Given the description of an element on the screen output the (x, y) to click on. 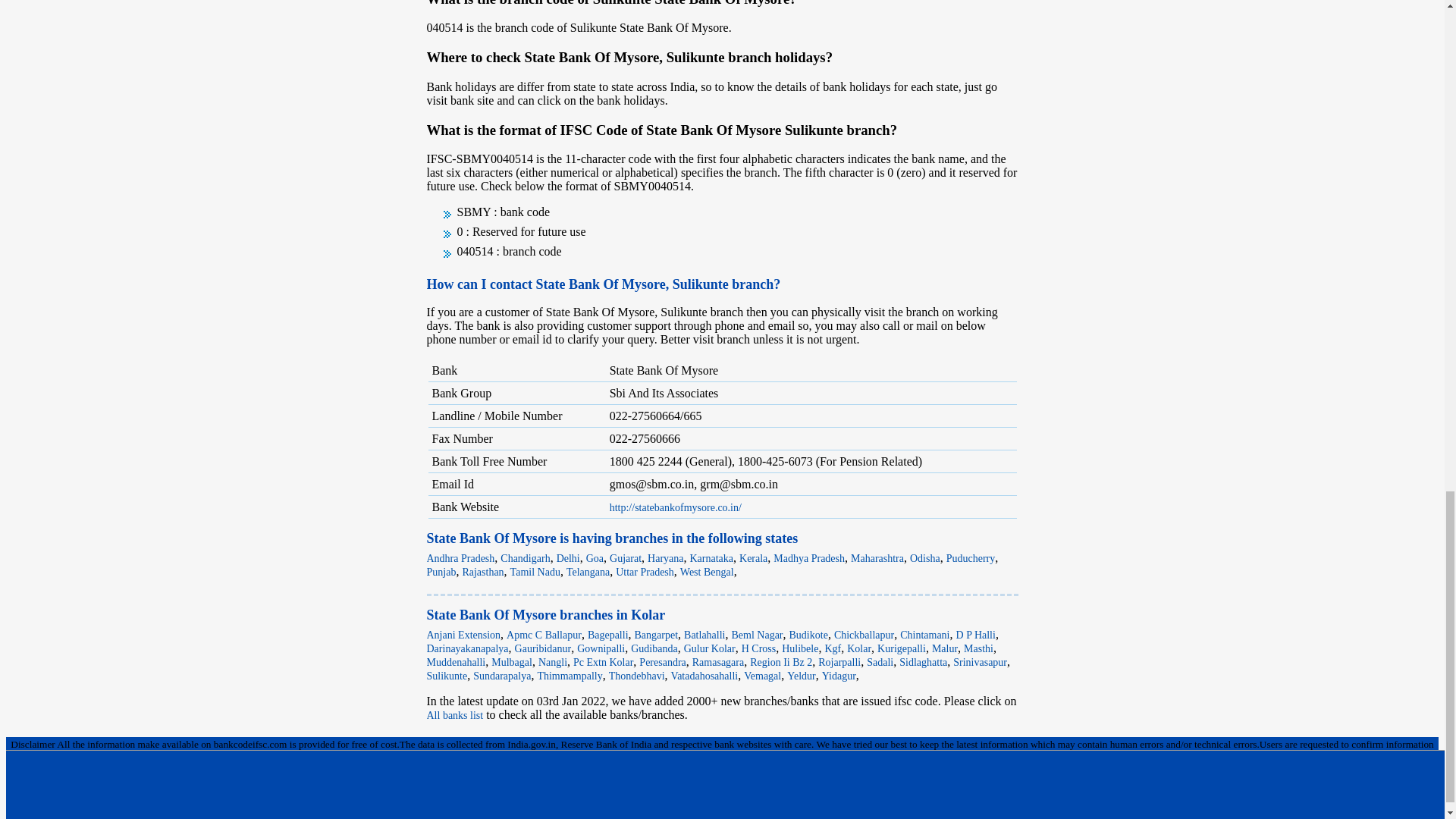
Kerala (753, 558)
Bangarpet (656, 634)
Puducherry (970, 558)
Haryana (664, 558)
Gujarat (626, 558)
Budikote (808, 634)
Beml Nagar (756, 634)
Goa (595, 558)
Punjab (440, 572)
Odisha (925, 558)
